Given the description of an element on the screen output the (x, y) to click on. 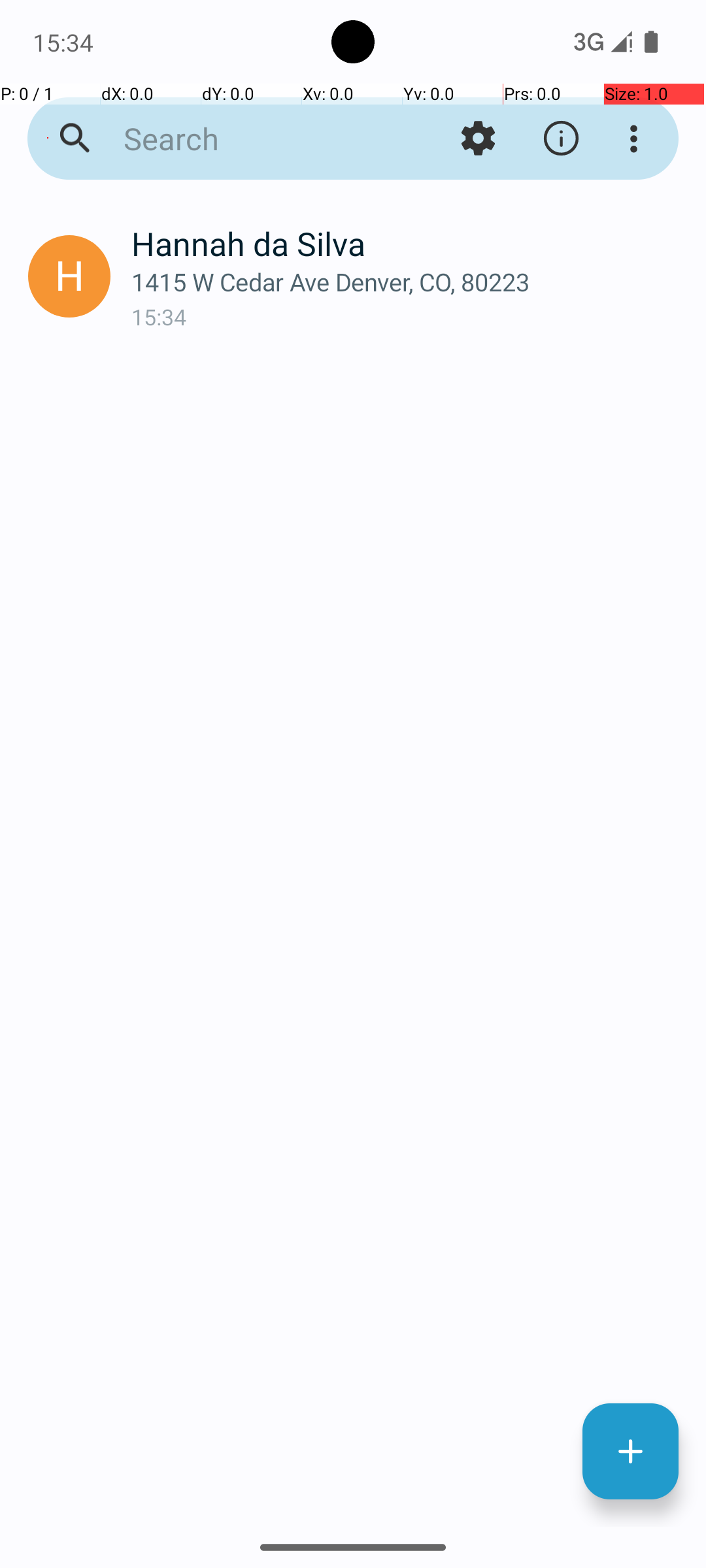
Hannah da Silva Element type: android.widget.TextView (408, 242)
1415 W Cedar Ave Denver, CO, 80223 Element type: android.widget.TextView (408, 281)
